Given the description of an element on the screen output the (x, y) to click on. 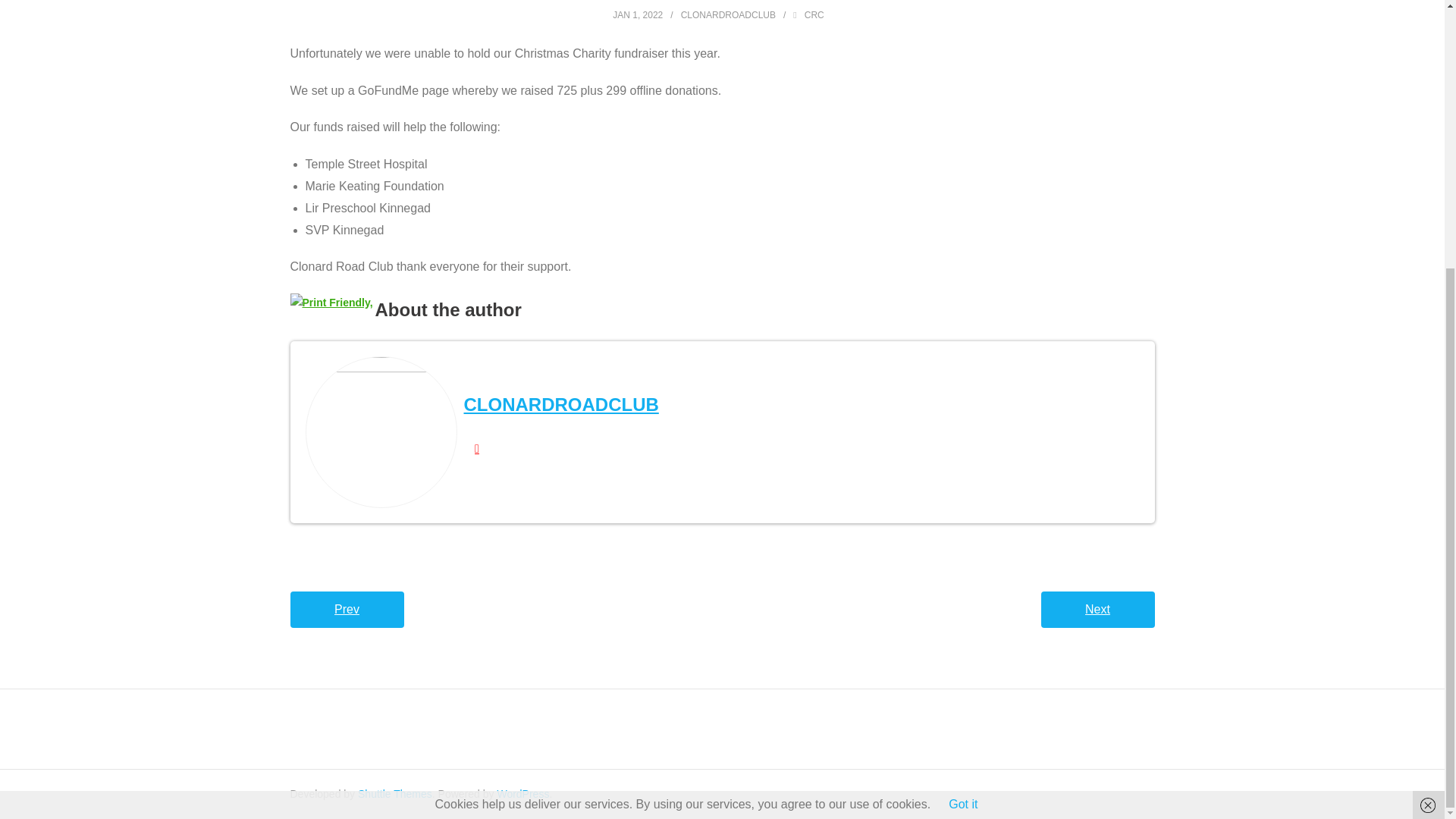
Posts by clonardroadclub (561, 403)
View all posts by clonardroadclub (728, 14)
Christmas Charity Gofundme (637, 14)
